Given the description of an element on the screen output the (x, y) to click on. 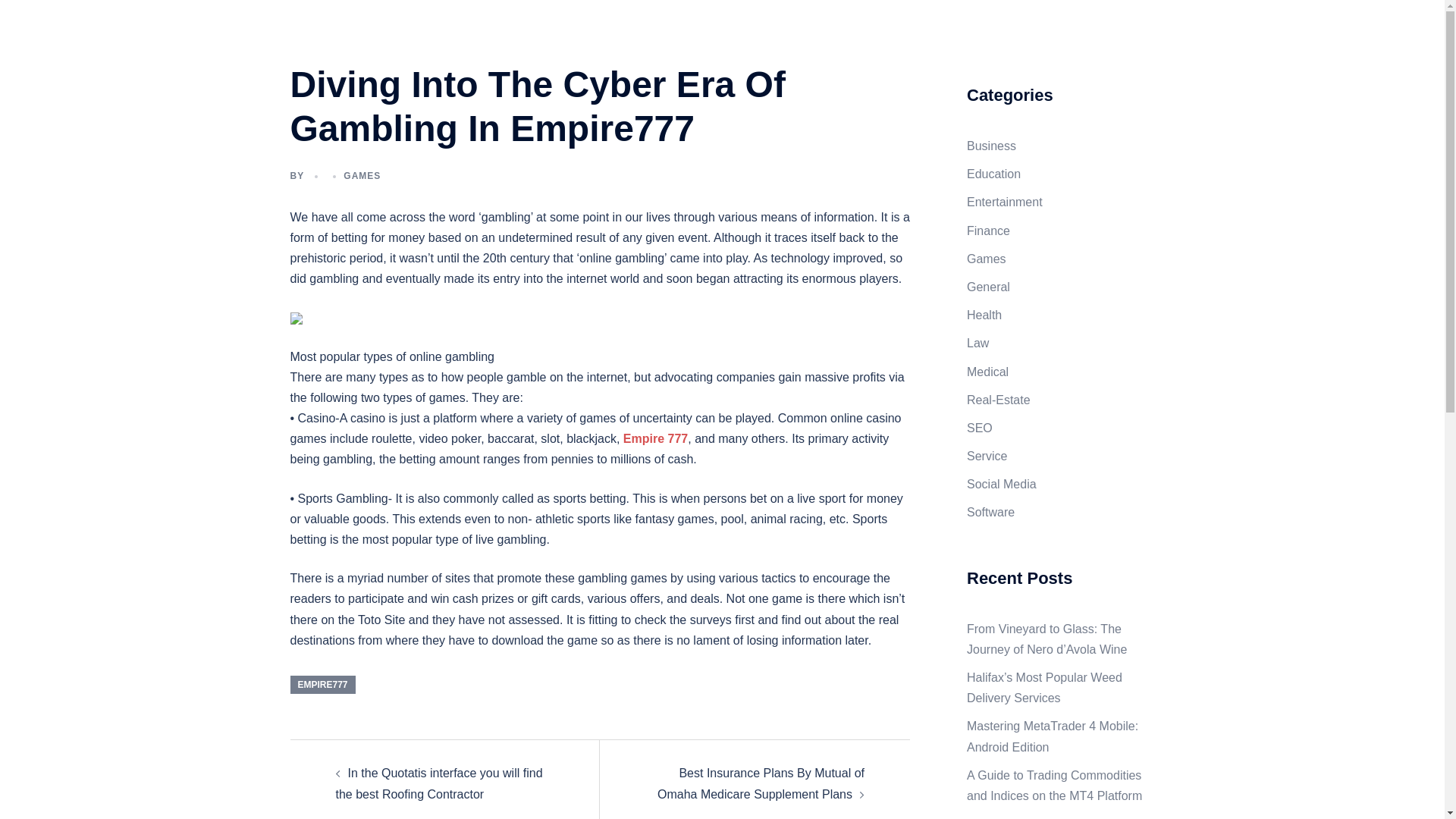
Service (986, 455)
The Stranger (364, 29)
Education (993, 173)
Medical (987, 371)
Business (991, 145)
Privacy Policy (822, 38)
Finance (988, 230)
Health (983, 314)
SEO (979, 427)
Entertainment (1004, 201)
Real-Estate (998, 399)
Education (973, 38)
Games (986, 258)
Law (977, 342)
Software (990, 512)
